Given the description of an element on the screen output the (x, y) to click on. 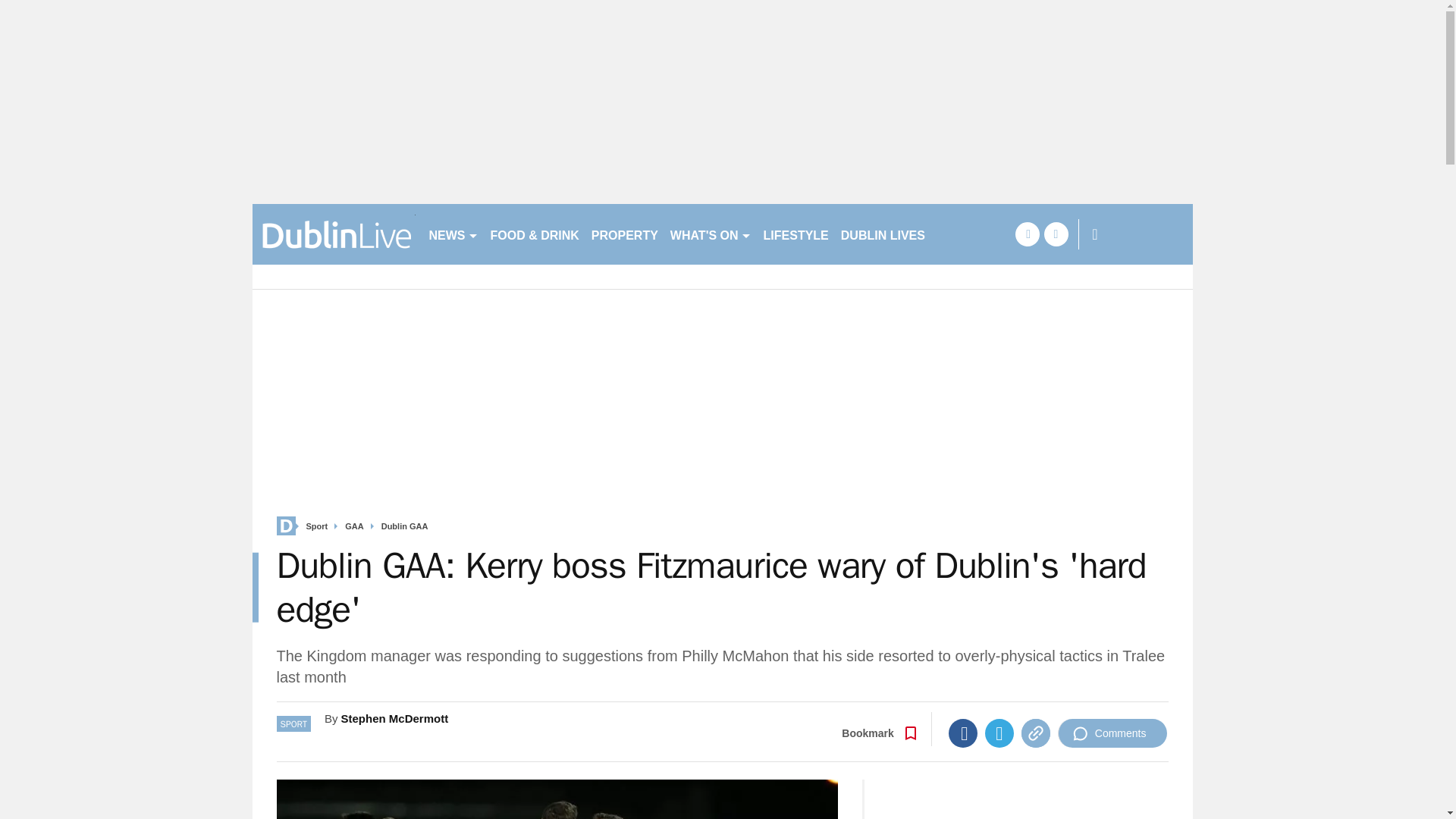
facebook (1026, 233)
WHAT'S ON (710, 233)
DUBLIN LIVES (882, 233)
twitter (1055, 233)
Twitter (999, 733)
Facebook (962, 733)
LIFESTYLE (795, 233)
dublinlive (332, 233)
SOCCER (962, 233)
PROPERTY (624, 233)
